Given the description of an element on the screen output the (x, y) to click on. 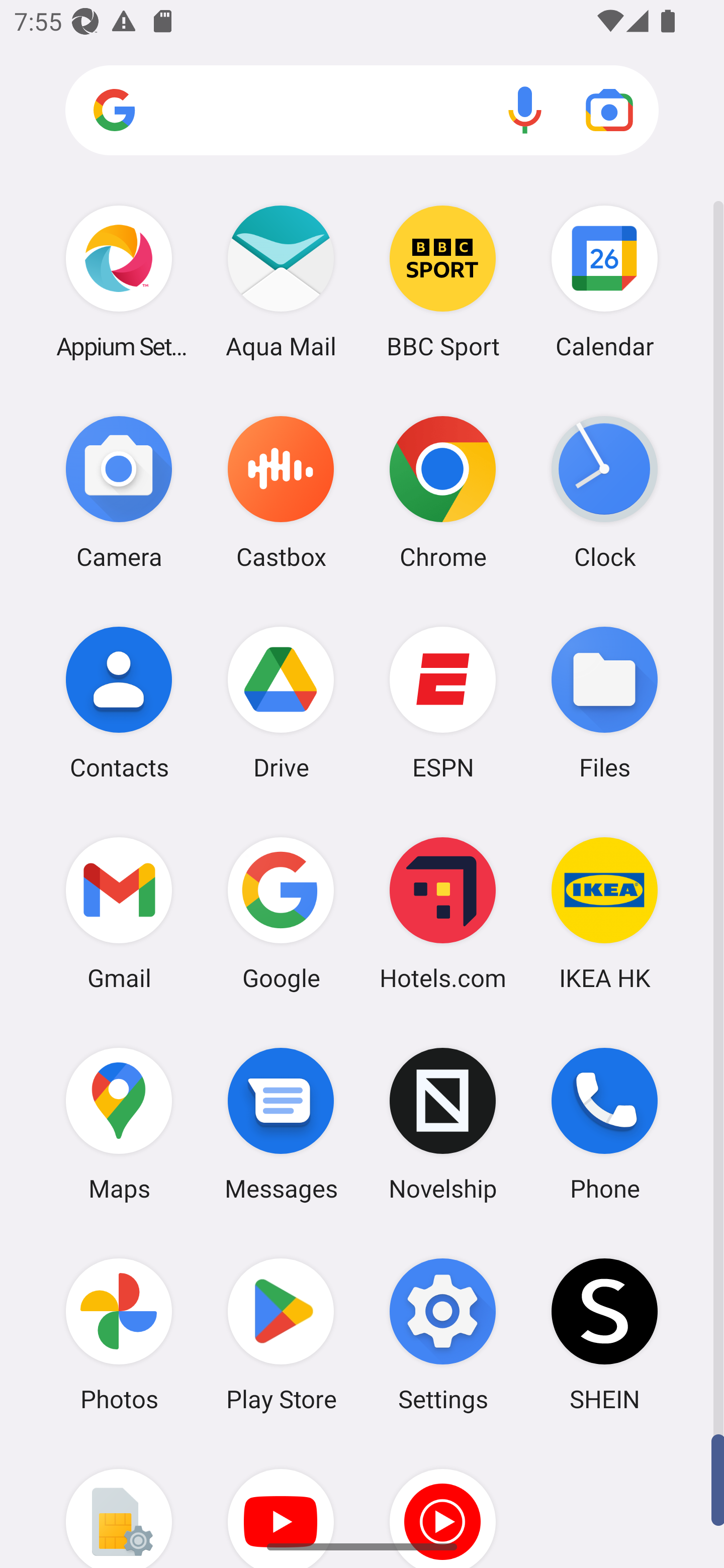
Search apps, web and more (361, 110)
Voice search (524, 109)
Google Lens (608, 109)
Appium Settings (118, 281)
Aqua Mail (280, 281)
BBC Sport (443, 281)
Calendar (604, 281)
Camera (118, 492)
Castbox (280, 492)
Chrome (443, 492)
Clock (604, 492)
Contacts (118, 702)
Drive (280, 702)
ESPN (443, 702)
Files (604, 702)
Gmail (118, 913)
Google (280, 913)
Hotels.com (443, 913)
IKEA HK (604, 913)
Maps (118, 1124)
Messages (280, 1124)
Novelship (443, 1124)
Phone (604, 1124)
Photos (118, 1334)
Play Store (280, 1334)
Settings (443, 1334)
SHEIN (604, 1334)
TMoble (118, 1503)
YouTube (280, 1503)
YT Music (443, 1503)
